Given the description of an element on the screen output the (x, y) to click on. 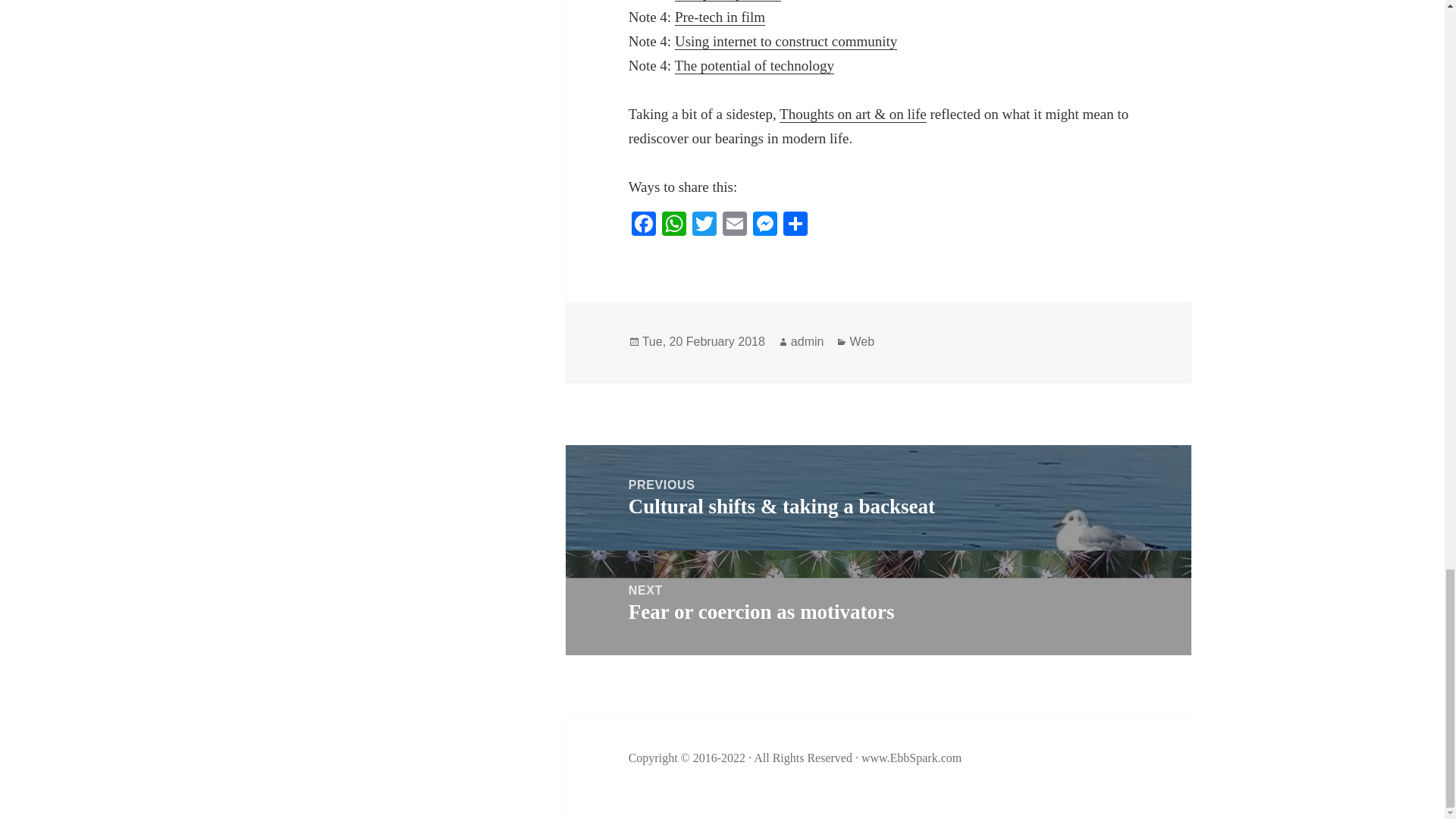
WhatsApp (673, 225)
Facebook (643, 225)
Twitter (703, 225)
Facebook (643, 225)
Messenger (764, 225)
Email (734, 225)
Email (734, 225)
Pre-tech in film (720, 17)
Complexity of life (727, 0)
Using internet to construct community (785, 41)
